Given the description of an element on the screen output the (x, y) to click on. 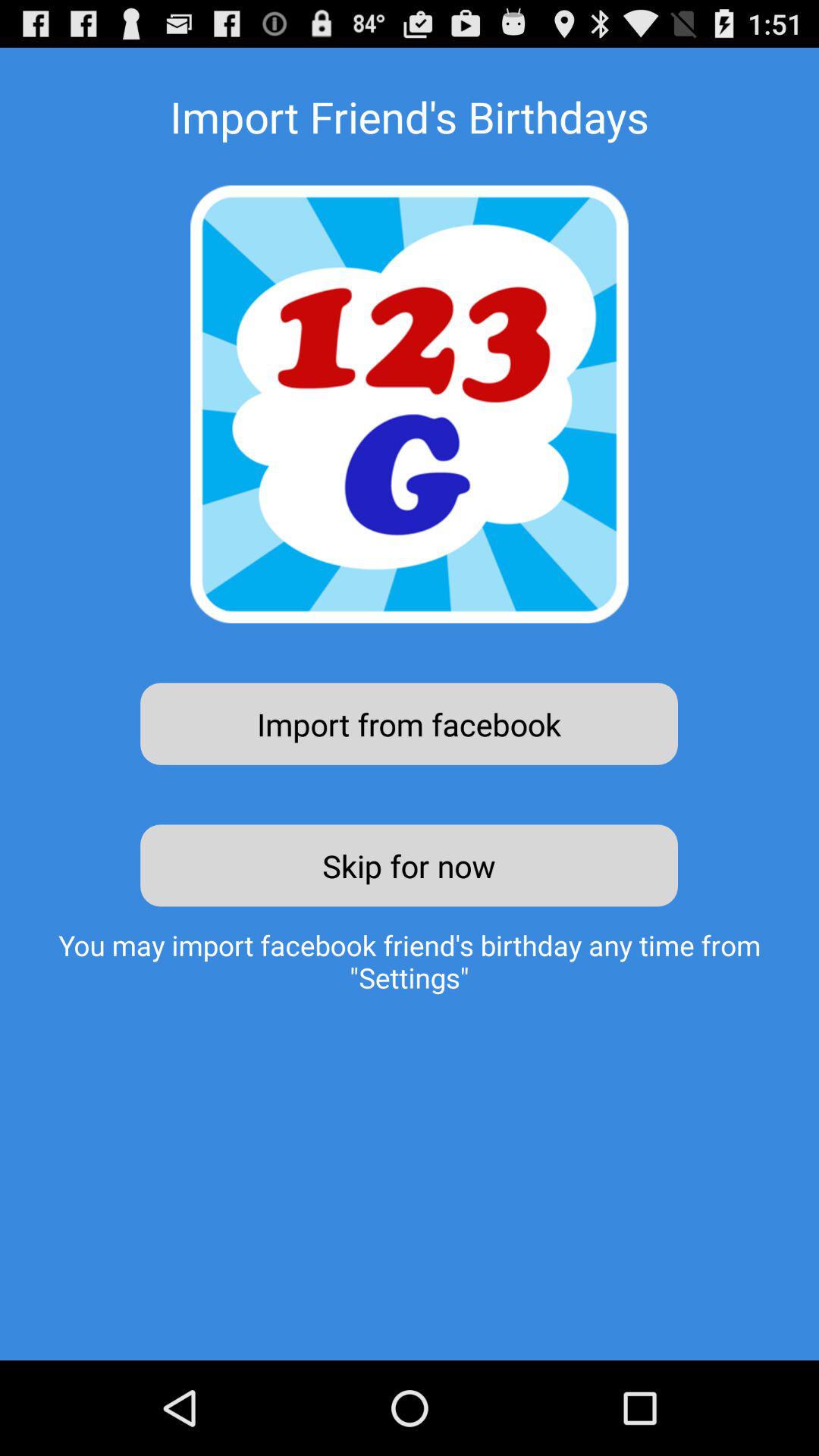
scroll to the skip for now button (408, 865)
